Given the description of an element on the screen output the (x, y) to click on. 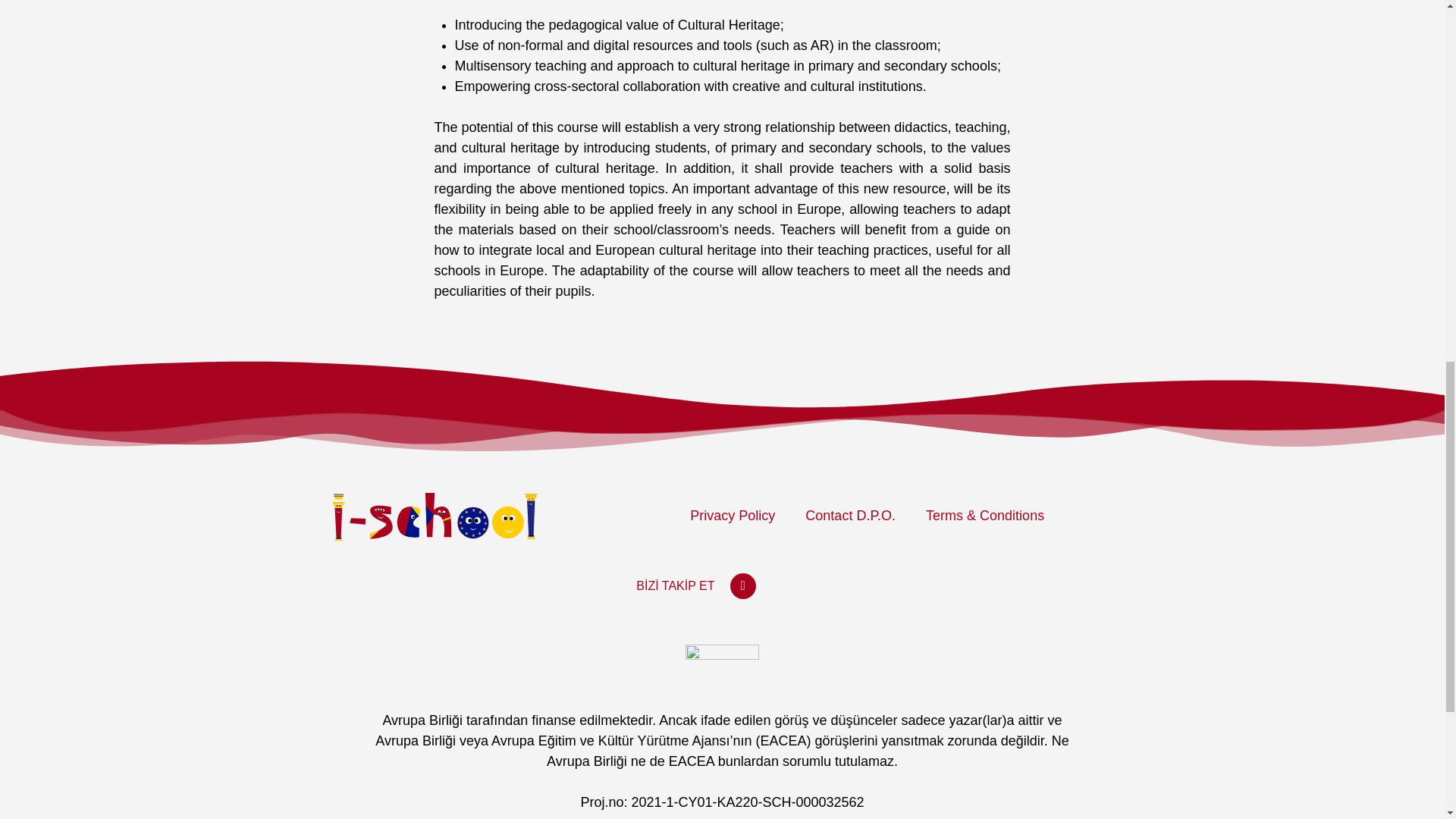
Contact D.P.O. (850, 515)
Privacy Policy (732, 515)
